Given the description of an element on the screen output the (x, y) to click on. 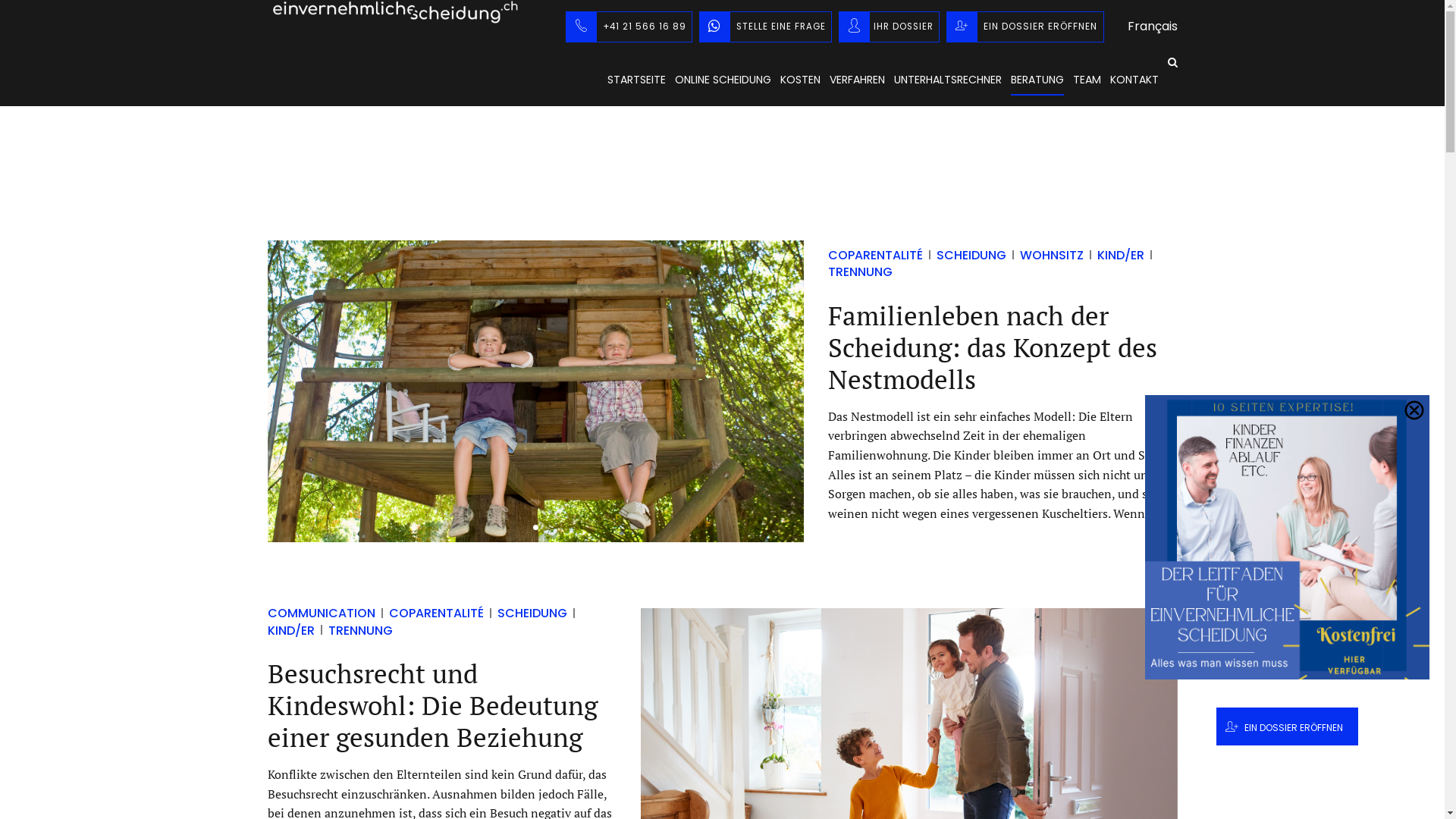
SCHEIDUNG Element type: text (525, 612)
KIND/ER Element type: text (1113, 254)
UNTERHALTSRECHNER Element type: text (947, 79)
WOHNSITZ Element type: text (1044, 254)
TEAM Element type: text (1086, 79)
TRENNUNG Element type: text (992, 263)
VERFAHREN Element type: text (856, 79)
KIND/ER Element type: text (423, 621)
COMMUNICATION Element type: text (321, 612)
TRENNUNG Element type: text (353, 630)
Design ohne Titel Kopie Element type: hover (534, 391)
ONLINE SCHEIDUNG Element type: text (722, 79)
STARTSEITE Element type: text (635, 79)
KOSTEN Element type: text (799, 79)
KONTAKT Element type: text (1134, 79)
BERATUNG Element type: text (1036, 79)
SCHEIDUNG Element type: text (964, 254)
+41 21 566 16 89 Element type: text (628, 25)
STELLE EINE FRAGE Element type: text (765, 25)
IHR DOSSIER Element type: text (888, 25)
